Given the description of an element on the screen output the (x, y) to click on. 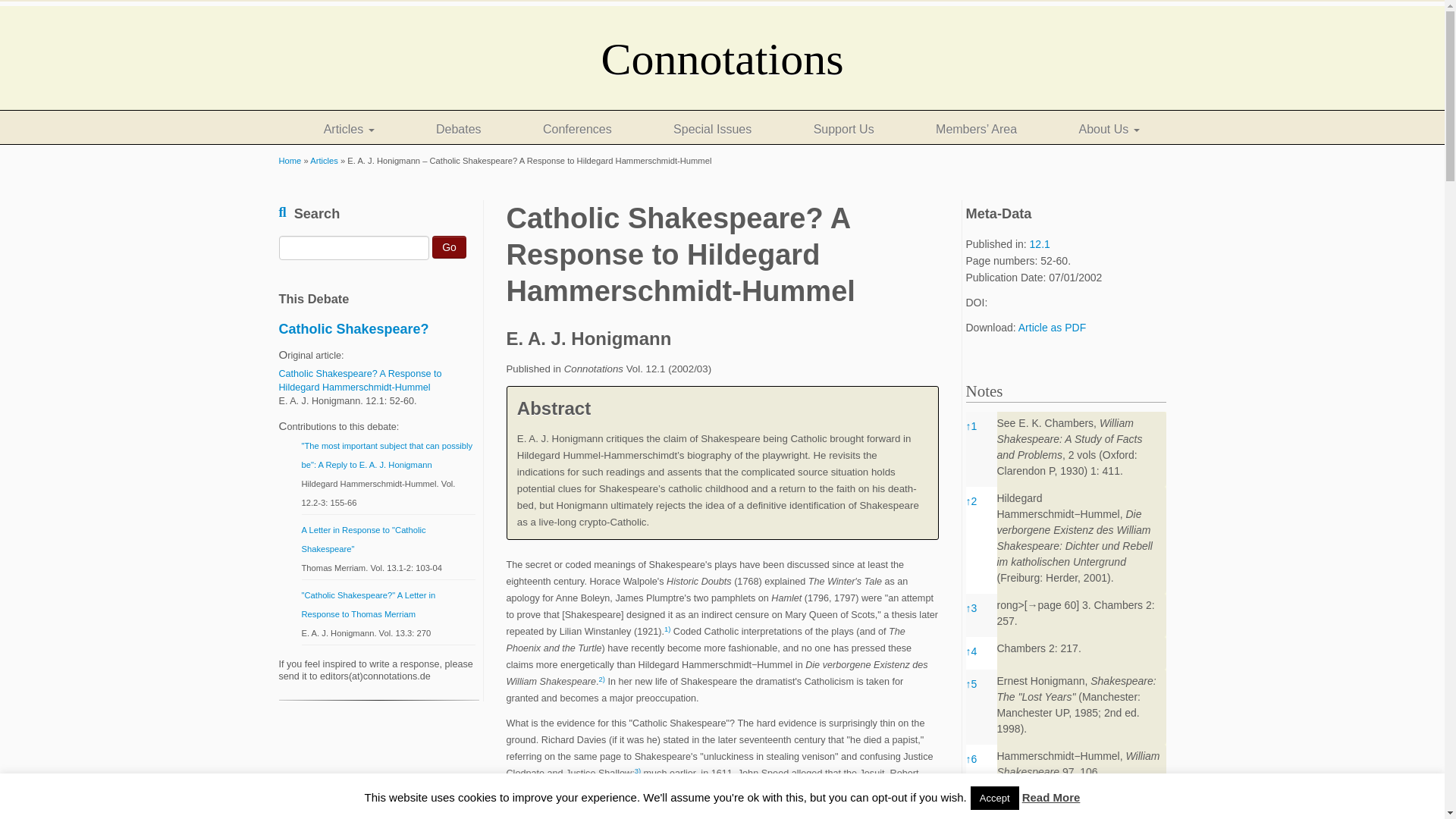
Articles (323, 160)
Special Issues (712, 129)
A Letter in Response to "Catholic Shakespeare" (363, 539)
Go (448, 246)
Catholic Shakespeare? (354, 328)
Connotations (290, 160)
Conferences (577, 129)
Debates (458, 129)
About Us (1108, 129)
Articles (349, 129)
Go (448, 246)
Home (290, 160)
Articles (323, 160)
